Given the description of an element on the screen output the (x, y) to click on. 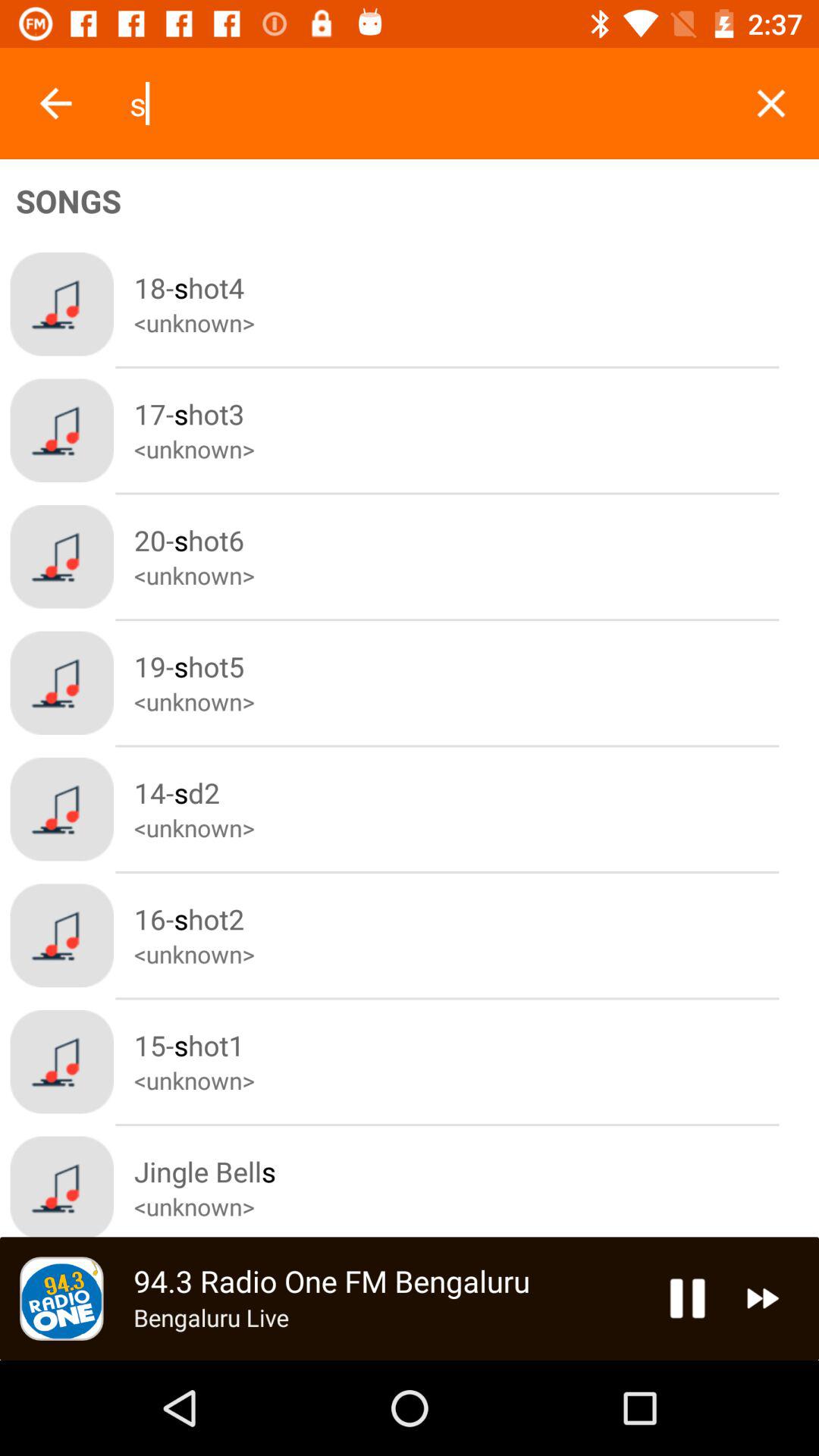
select the item above the songs item (55, 103)
